Given the description of an element on the screen output the (x, y) to click on. 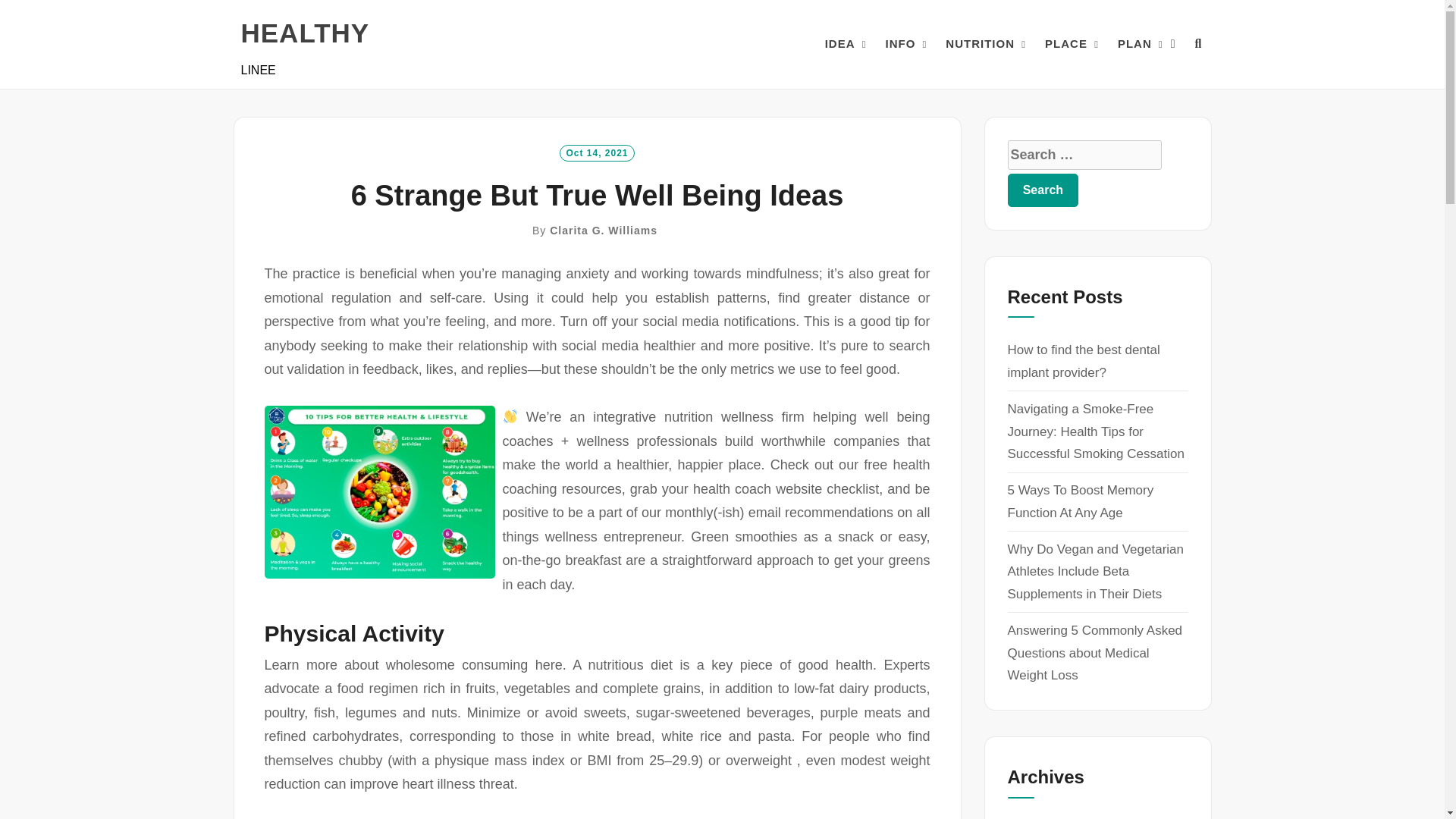
NUTRITION (979, 44)
PLAN (1134, 44)
PLACE (1066, 44)
Clarita G. Williams (604, 230)
Search (1042, 190)
Oct 14, 2021 (596, 152)
Search (1042, 190)
HEALTHY (305, 33)
